Given the description of an element on the screen output the (x, y) to click on. 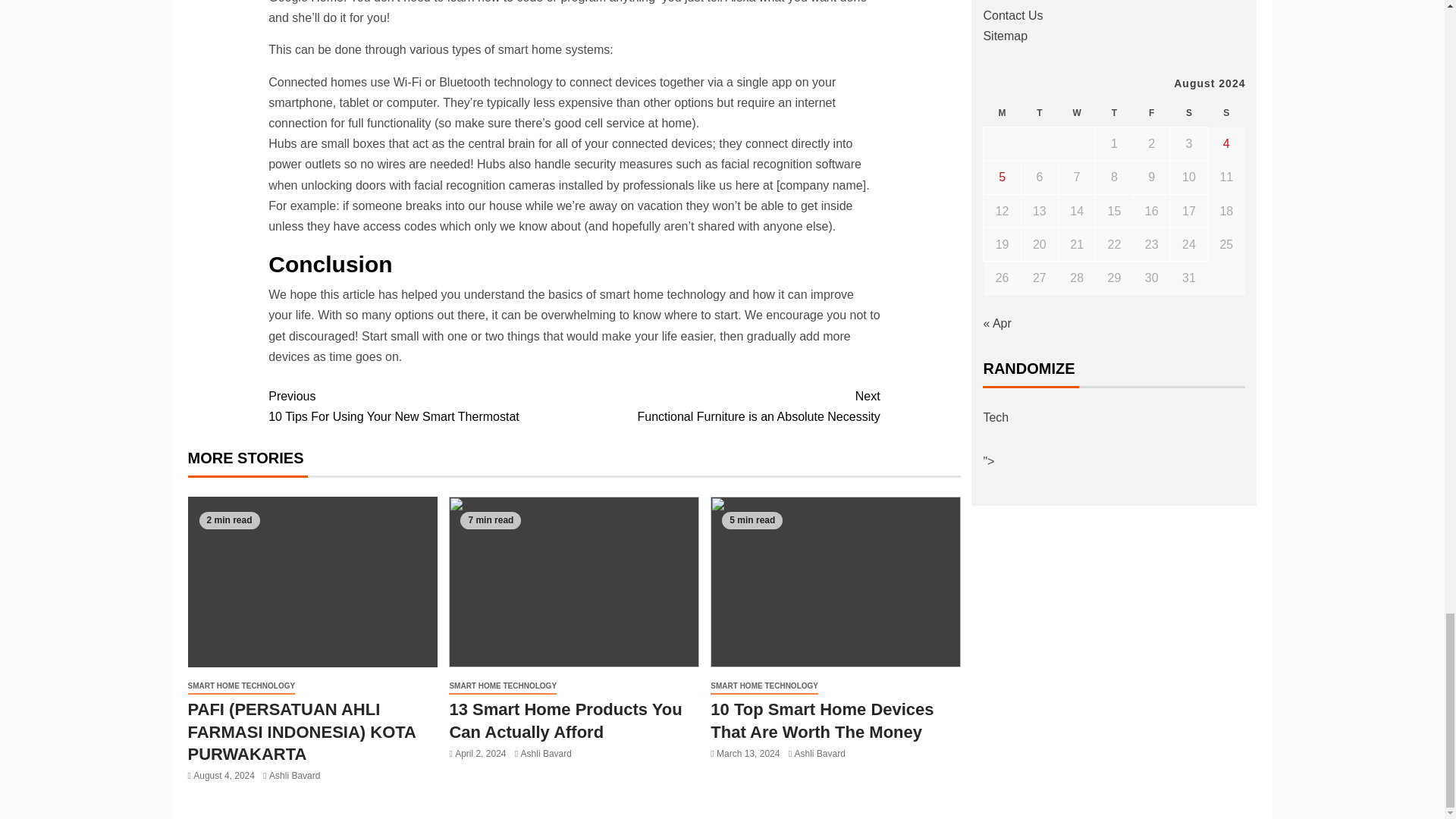
10 Top Smart Home Devices That Are Worth The Money (821, 720)
SMART HOME TECHNOLOGY (241, 686)
Ashli Bavard (819, 753)
Ashli Bavard (294, 775)
Ashli Bavard (726, 405)
SMART HOME TECHNOLOGY (546, 753)
Tuesday (502, 686)
Monday (1039, 113)
Sunday (1002, 113)
Wednesday (1226, 113)
Thursday (1077, 113)
SMART HOME TECHNOLOGY (1114, 113)
Friday (764, 686)
